Given the description of an element on the screen output the (x, y) to click on. 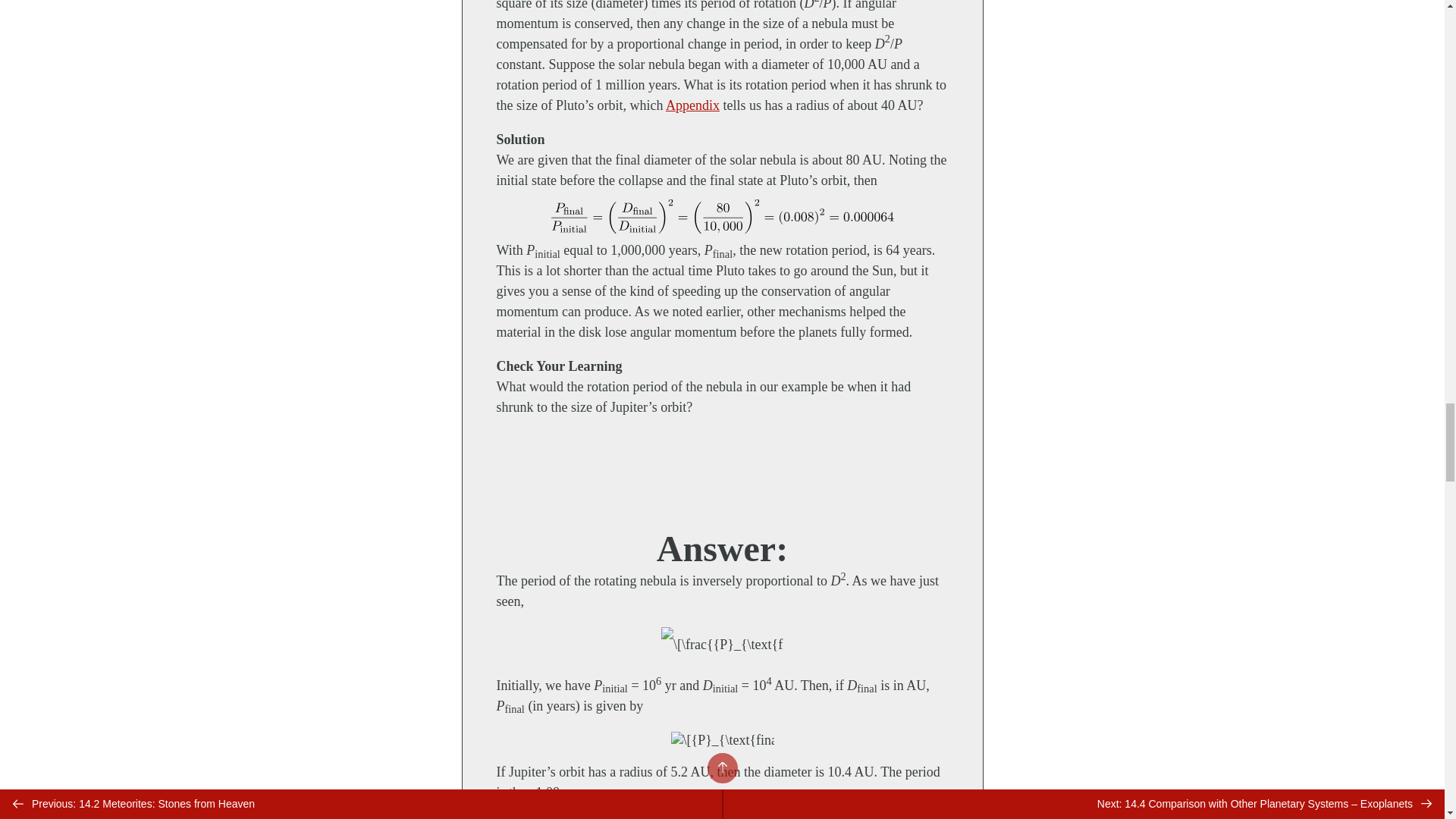
Rendered by QuickLaTeX.com (722, 644)
Rendered by QuickLaTeX.com (721, 216)
Appendix (692, 105)
Rendered by QuickLaTeX.com (721, 740)
